Given the description of an element on the screen output the (x, y) to click on. 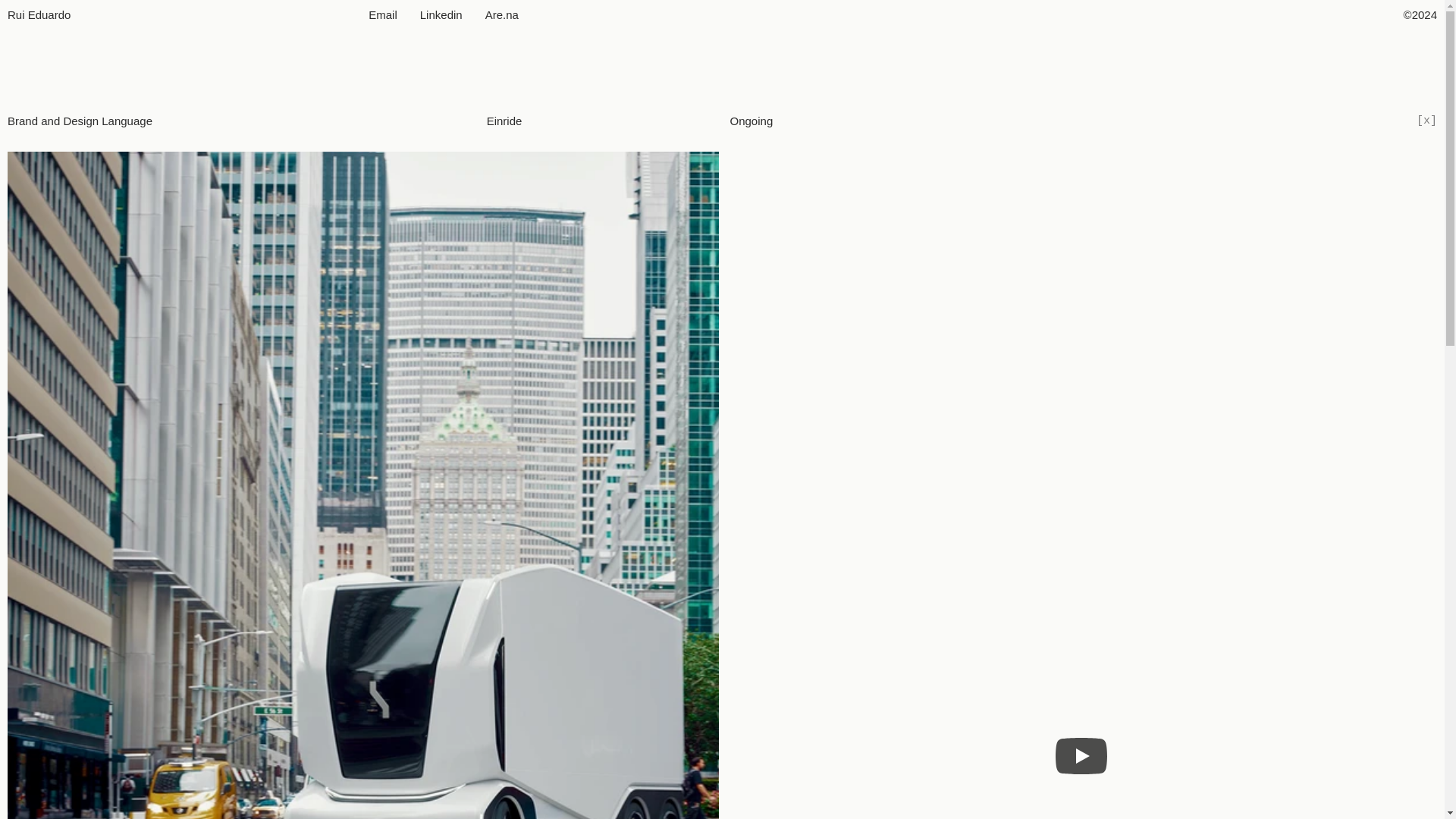
Linkedin (441, 14)
Email (382, 14)
Are.na (501, 14)
Rui Eduardo (38, 14)
